Given the description of an element on the screen output the (x, y) to click on. 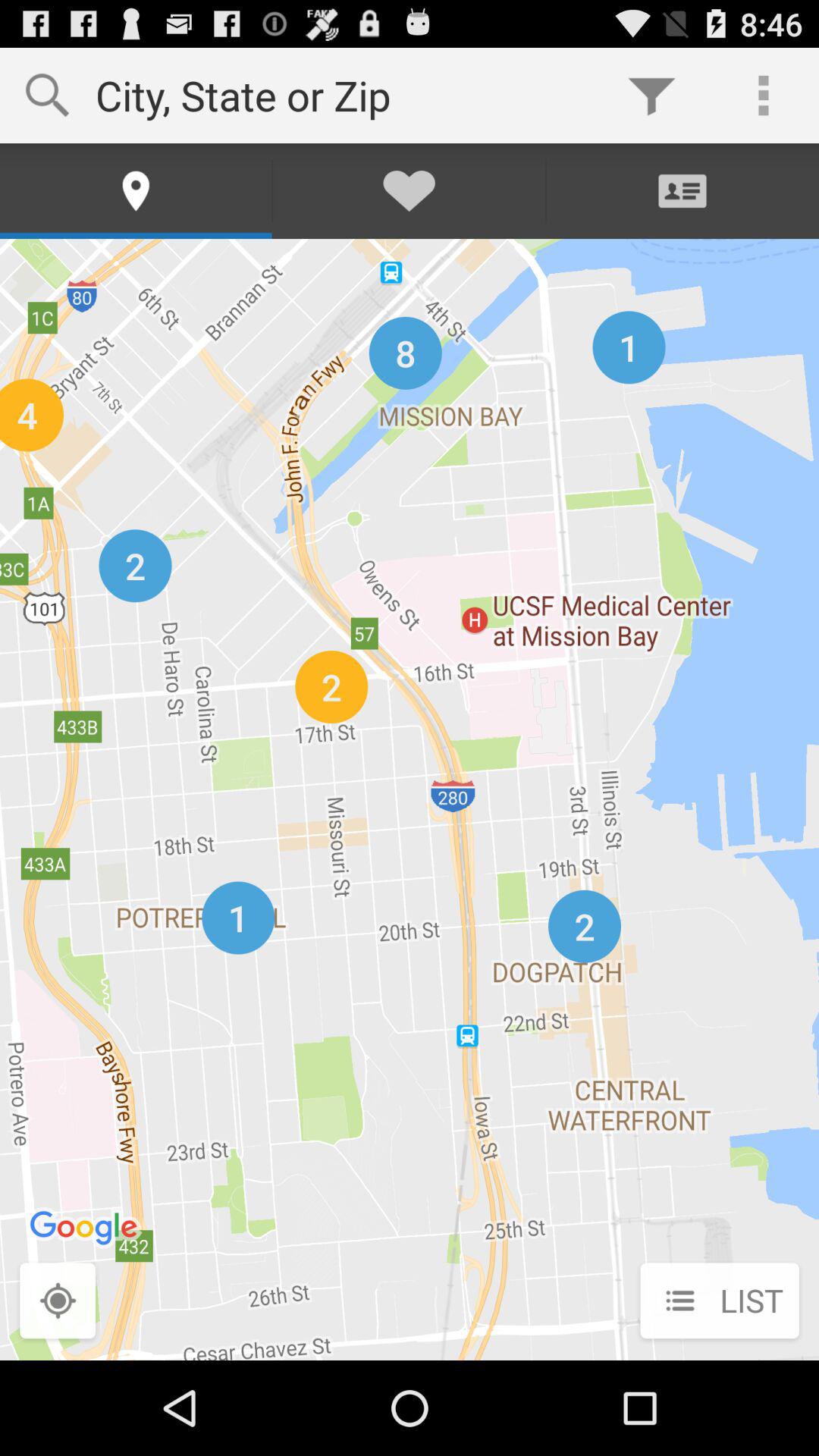
open list item (719, 1302)
